Given the description of an element on the screen output the (x, y) to click on. 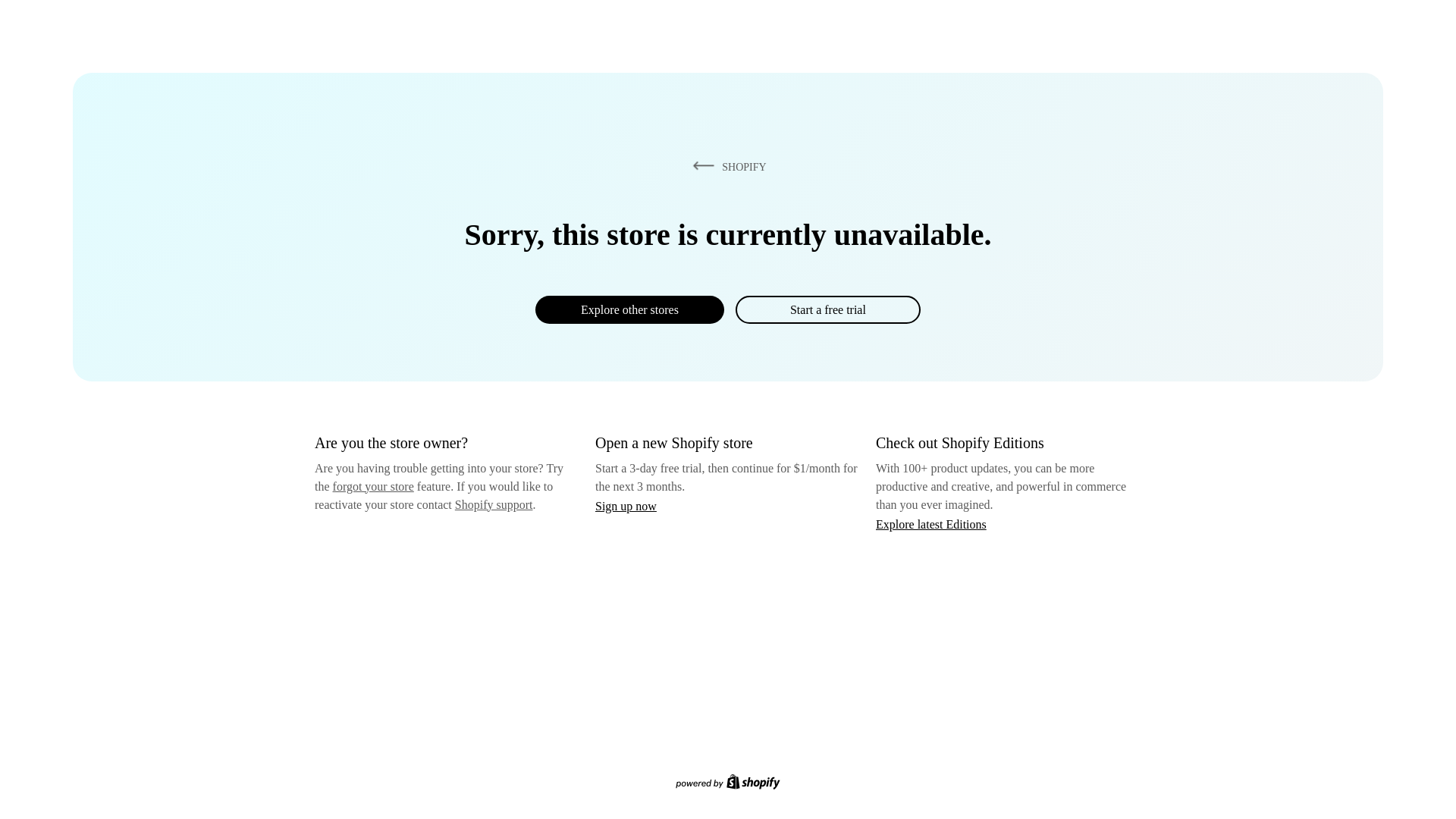
Shopify support (493, 504)
SHOPIFY (726, 166)
Explore latest Editions (931, 523)
Sign up now (625, 505)
forgot your store (373, 486)
Start a free trial (827, 309)
Explore other stores (629, 309)
